Given the description of an element on the screen output the (x, y) to click on. 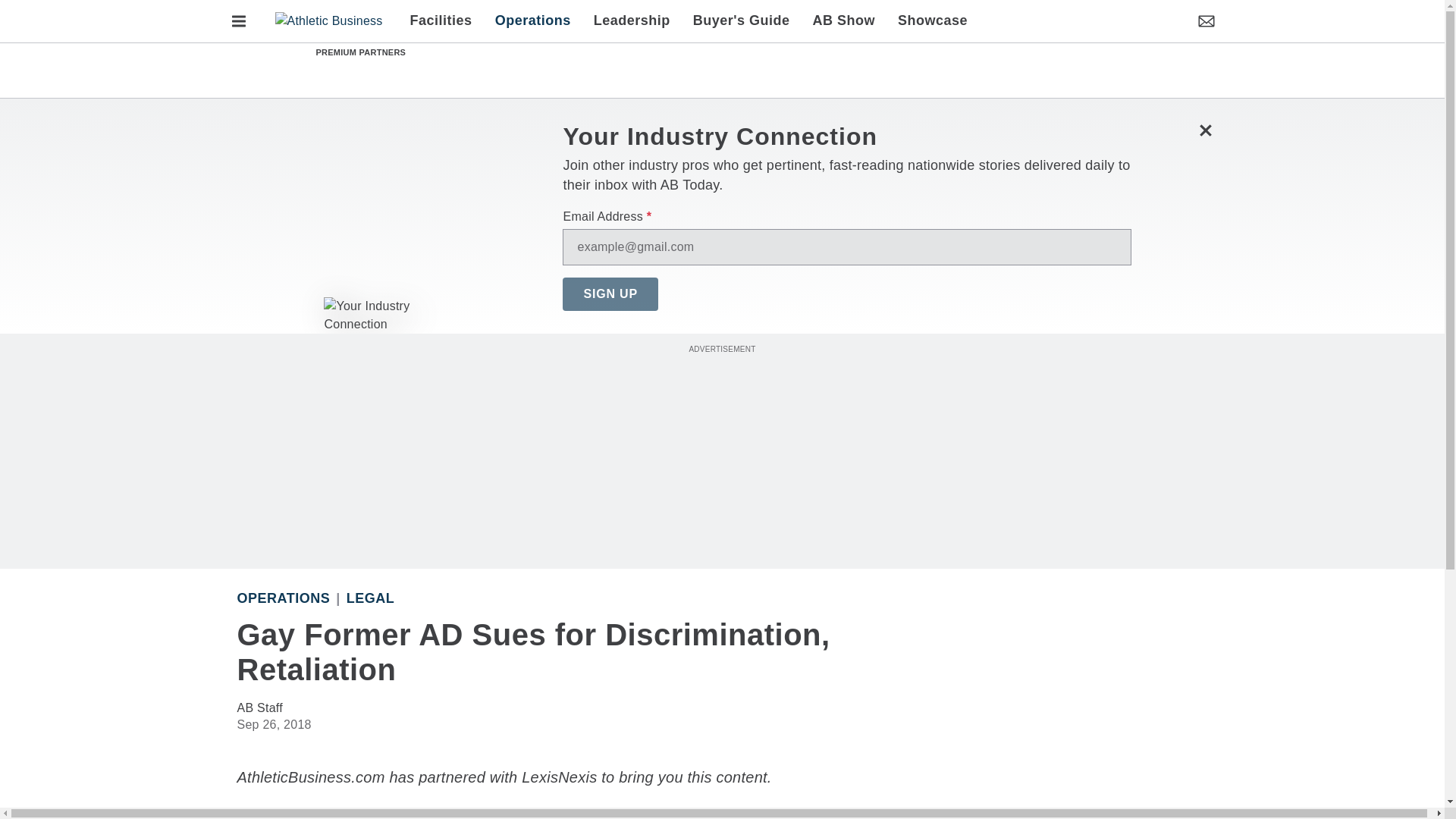
Leadership (631, 21)
Facilities (446, 21)
Showcase (927, 21)
AB Show (844, 21)
Operations (282, 598)
Buyer's Guide (741, 21)
SIGN UP (610, 294)
Operations (532, 21)
